Given the description of an element on the screen output the (x, y) to click on. 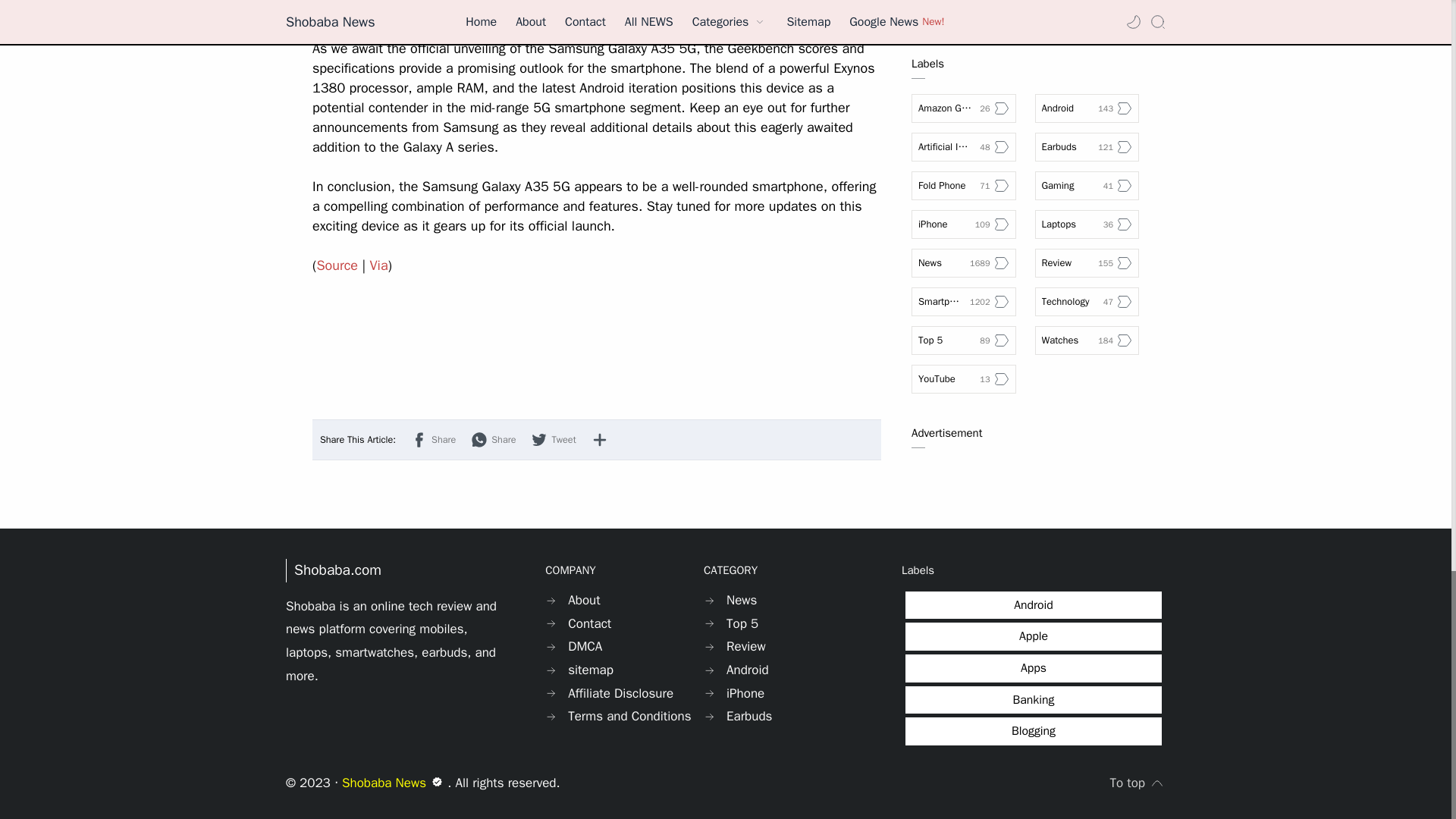
Share to Twitter (553, 439)
Share to Facebook (432, 439)
Source (336, 265)
Share to Whatsapp (492, 439)
Via (378, 265)
